Given the description of an element on the screen output the (x, y) to click on. 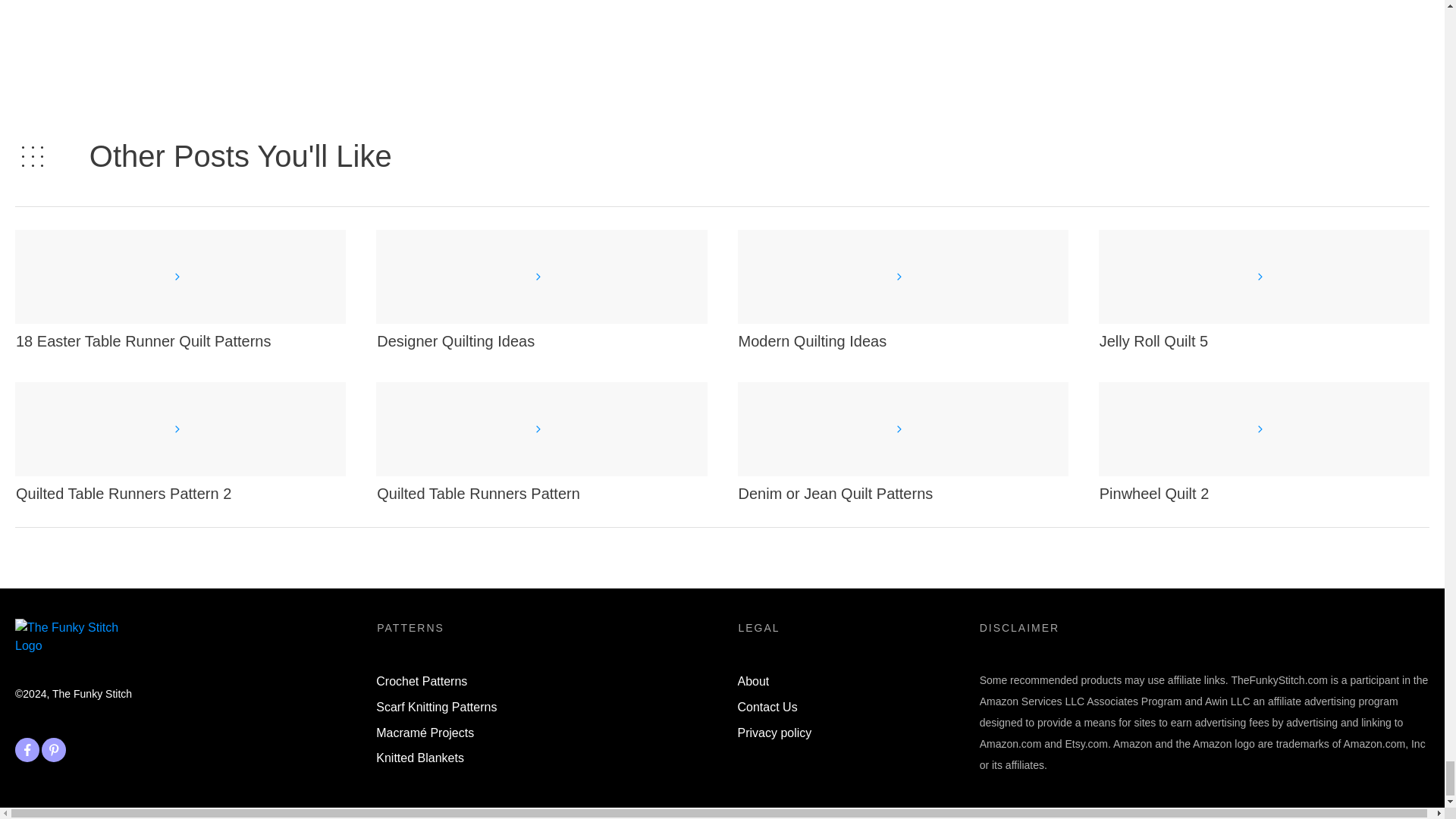
Denim or Jean Quilt Patterns (835, 493)
Jelly Roll Quilt 5 (1153, 340)
Modern Quilting Ideas (812, 340)
18 Easter Table Runner Quilt Patterns (143, 340)
Quilted Table Runners Pattern 2 (123, 493)
Quilted Table Runners Pattern (478, 493)
Designer Quilting Ideas (455, 340)
